Given the description of an element on the screen output the (x, y) to click on. 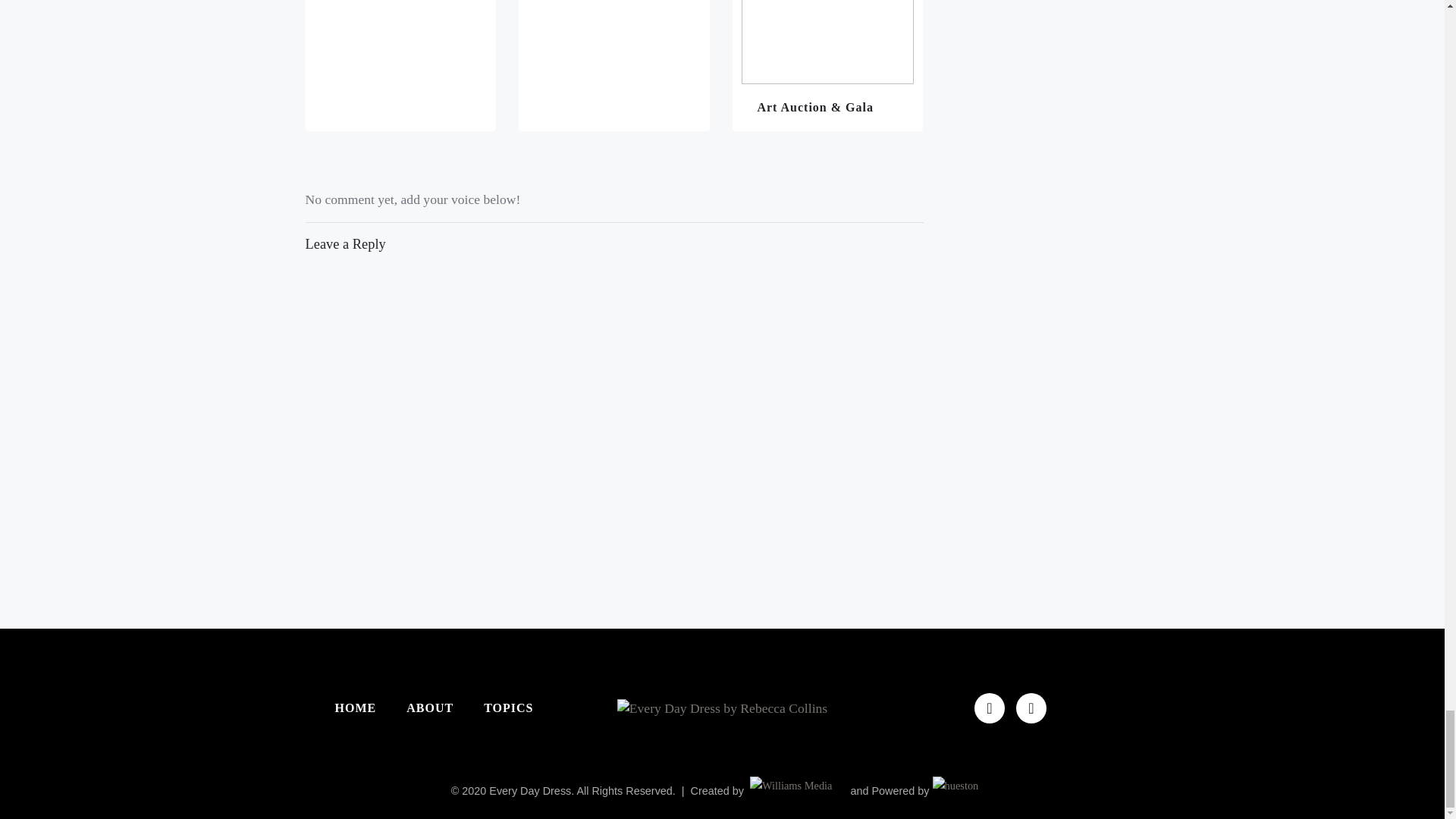
Cake Cake Cake (400, 65)
On The Road (614, 65)
